Given the description of an element on the screen output the (x, y) to click on. 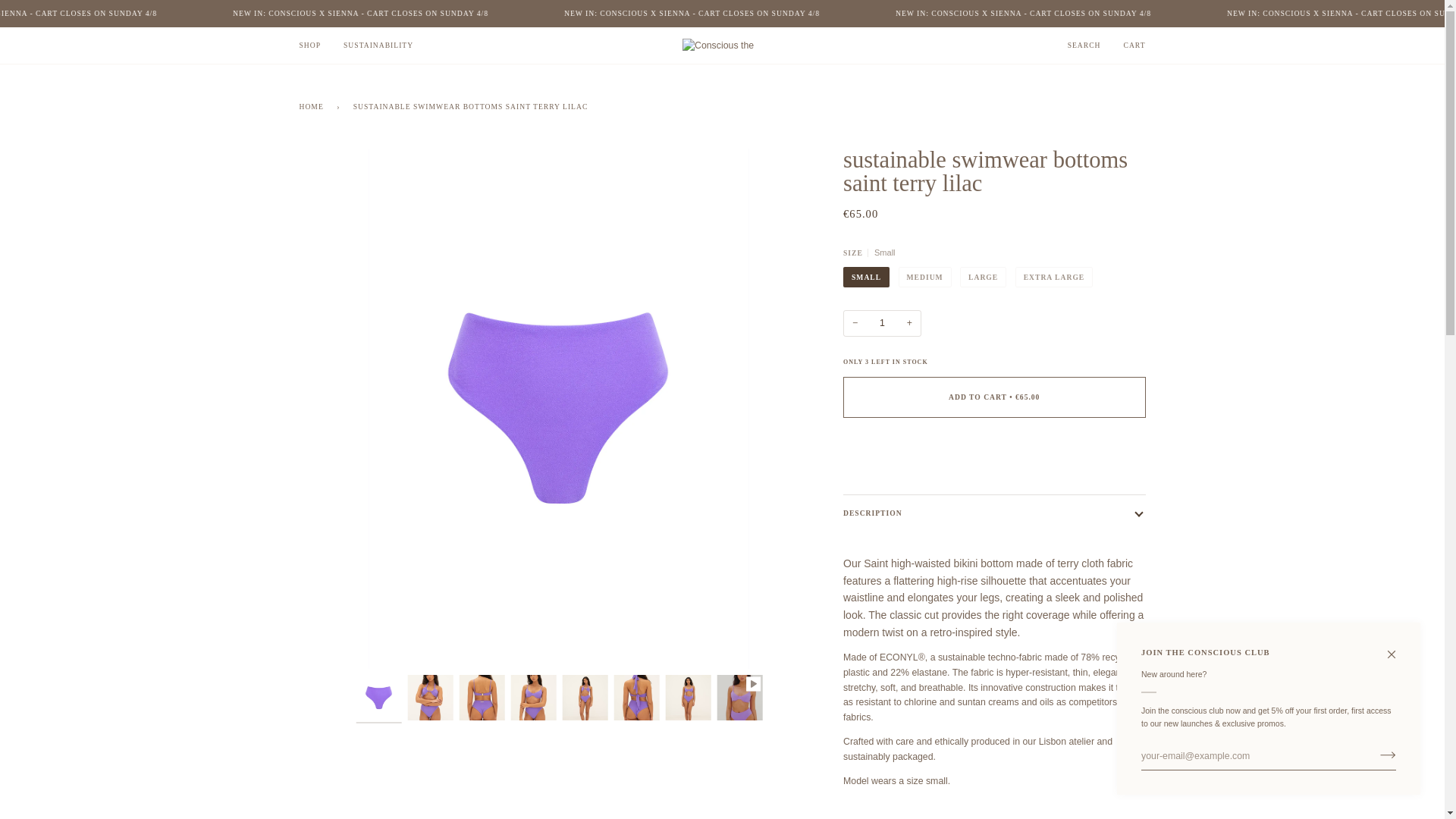
1 (882, 323)
SUSTAINABILITY (378, 45)
SEARCH (1084, 45)
Back to the frontpage (313, 106)
CART (1134, 45)
SHOP (310, 45)
